Given the description of an element on the screen output the (x, y) to click on. 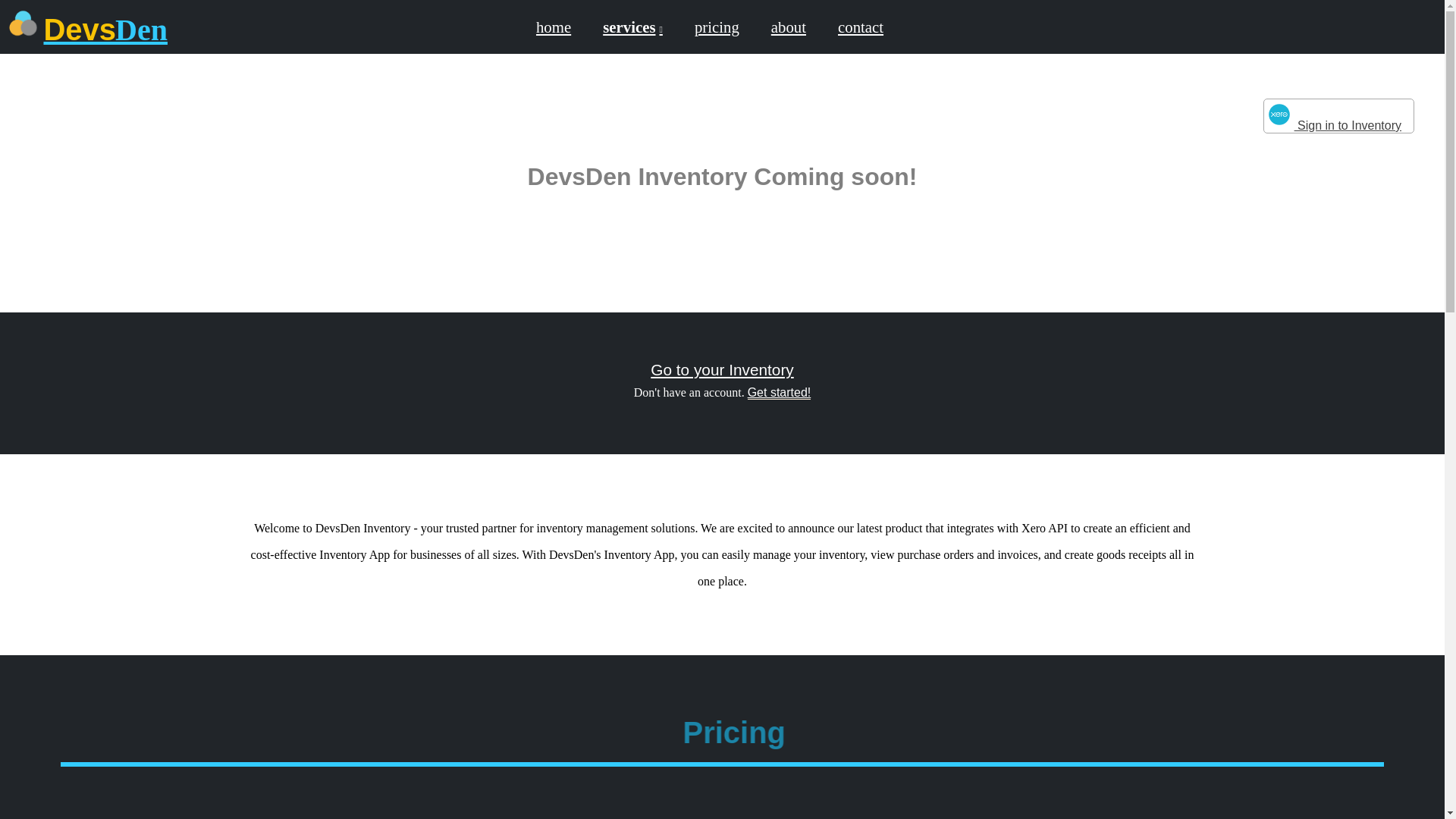
services (632, 25)
Devs Den (105, 29)
contact (860, 25)
Blue Xero logo (1278, 114)
Sign in to Inventory (1338, 115)
Get started! (779, 392)
home (553, 25)
Go to your Inventory (721, 369)
about (788, 25)
pricing (716, 25)
